Given the description of an element on the screen output the (x, y) to click on. 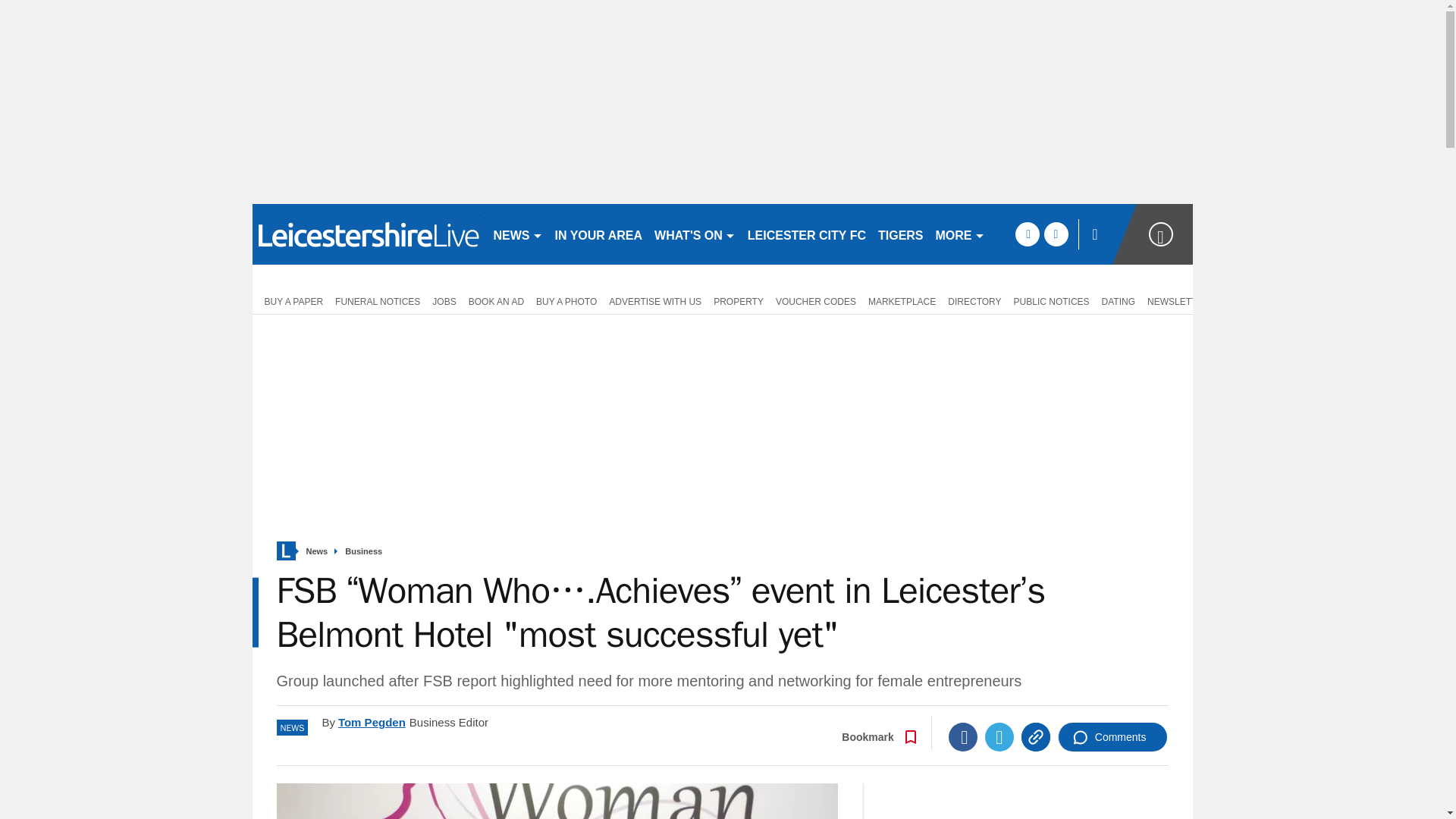
leicestermercury (365, 233)
TIGERS (901, 233)
MORE (960, 233)
Facebook (962, 736)
IN YOUR AREA (598, 233)
Twitter (999, 736)
facebook (1026, 233)
twitter (1055, 233)
Comments (1112, 736)
LEICESTER CITY FC (806, 233)
